Given the description of an element on the screen output the (x, y) to click on. 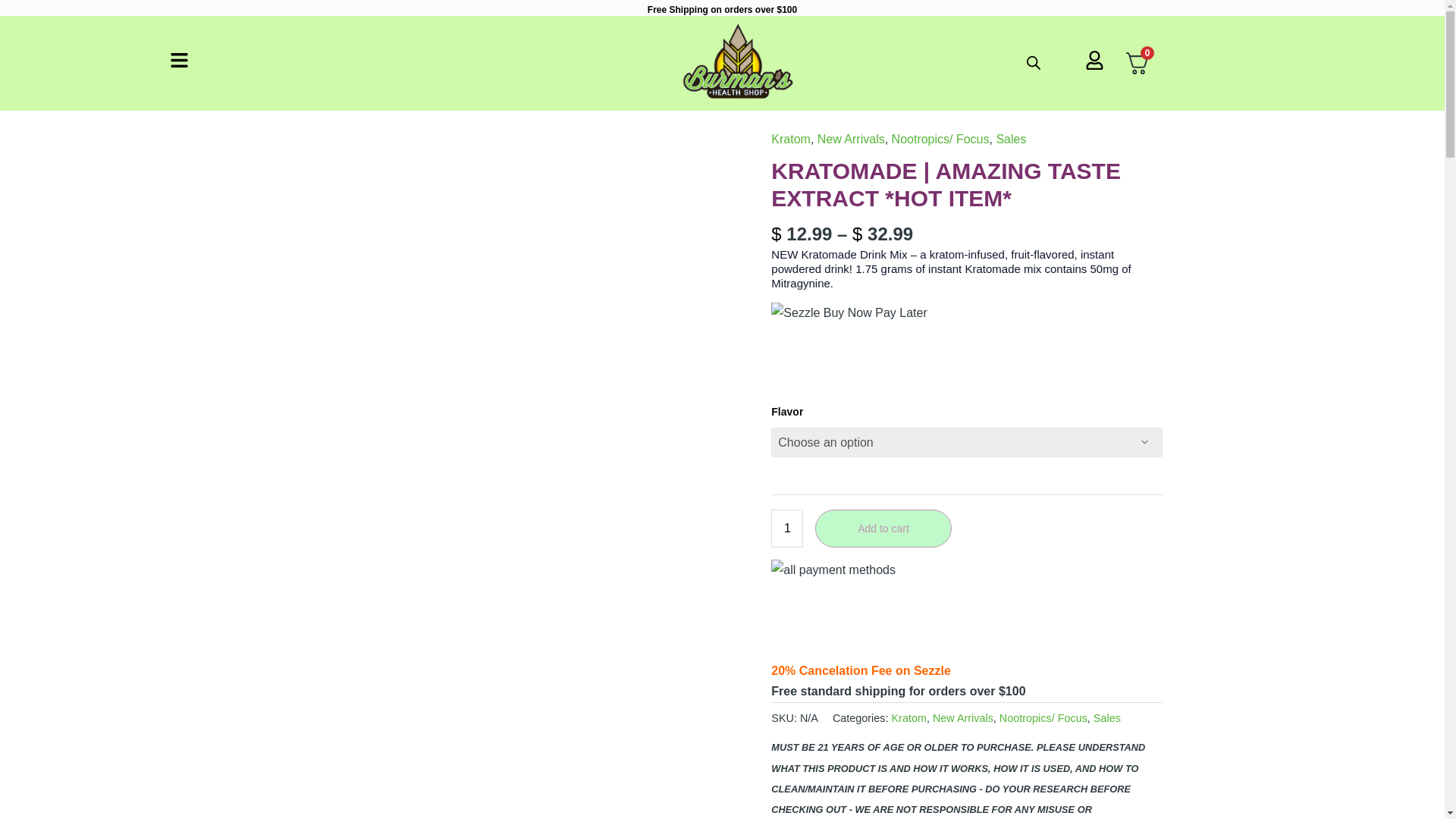
New Arrivals (850, 138)
Sales (1010, 138)
New Arrivals (962, 717)
Kratom (790, 138)
Sales (1107, 717)
Kratom (908, 717)
Add to cart (883, 528)
